Given the description of an element on the screen output the (x, y) to click on. 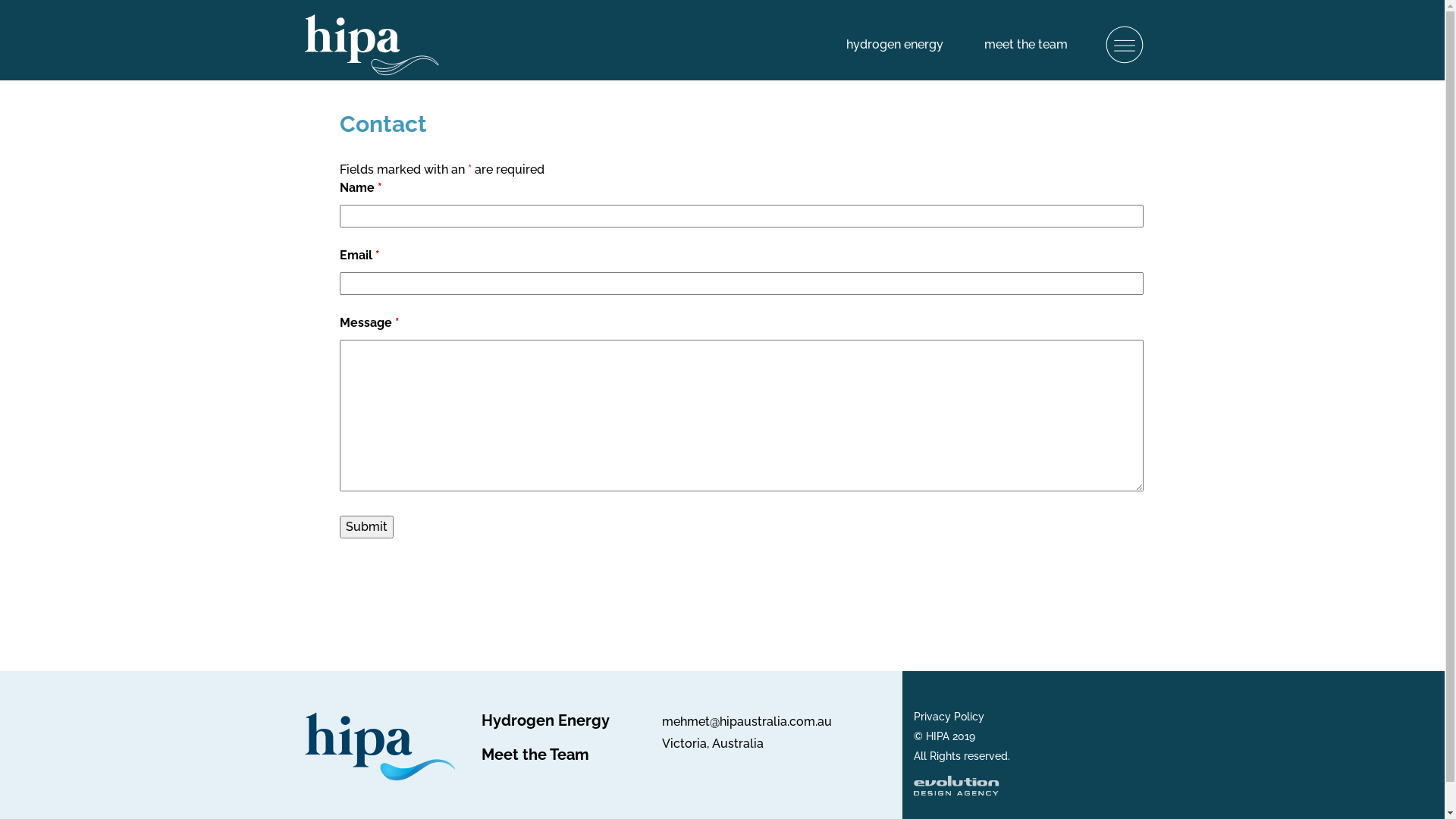
Hydrogen Energy Element type: text (545, 720)
Submit Element type: text (366, 526)
Meet the Team Element type: text (535, 754)
Evolution Design Agency Element type: text (956, 789)
meet the team Element type: text (1025, 44)
mehmet@hipaustralia.com.au Element type: text (746, 721)
Privacy Policy Element type: text (948, 716)
hydrogen energy Element type: text (894, 44)
